Given the description of an element on the screen output the (x, y) to click on. 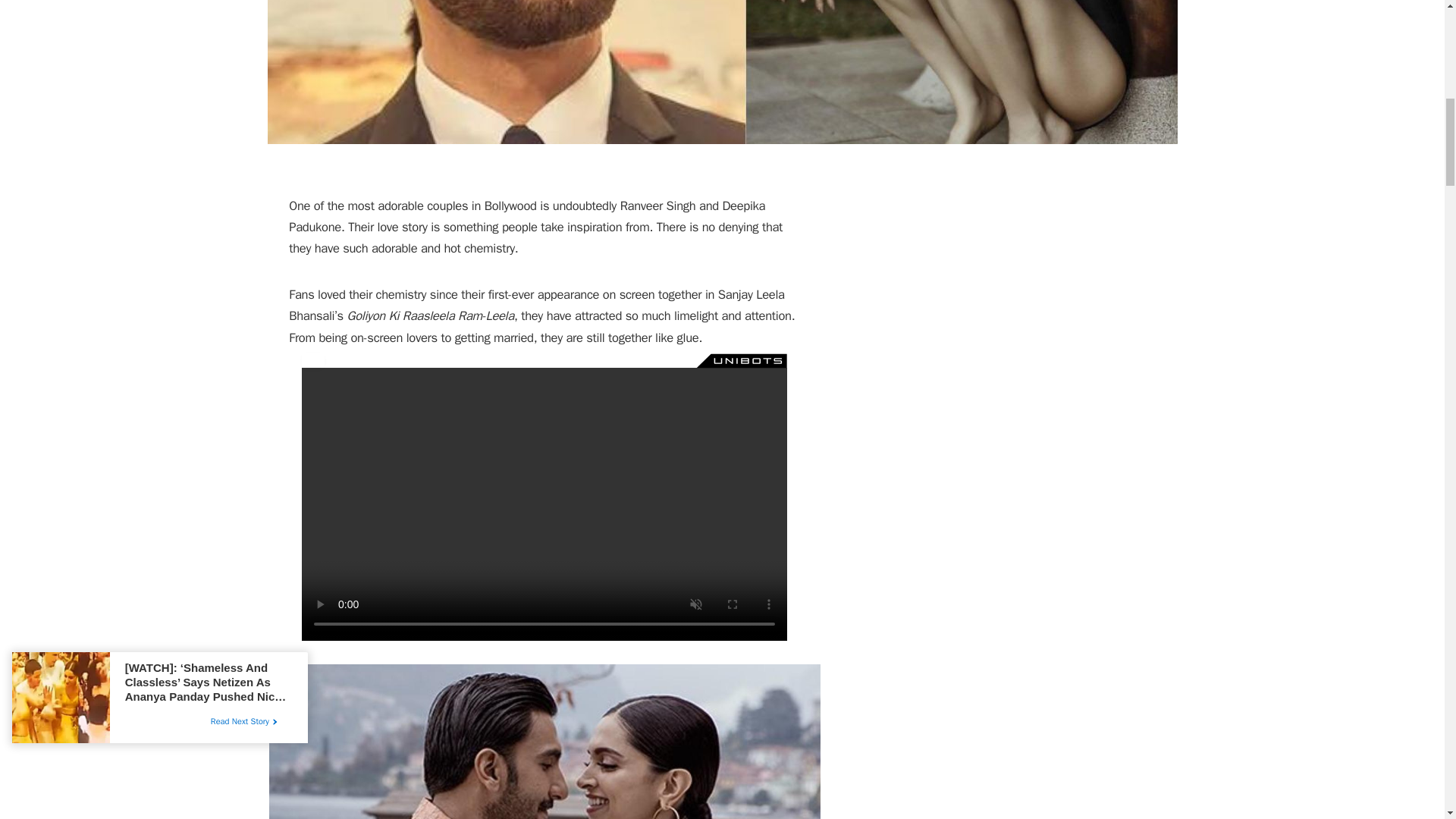
Ranveer Singh Rubbishes Separation Rumors With Deepika (721, 72)
Close Player (312, 359)
